Given the description of an element on the screen output the (x, y) to click on. 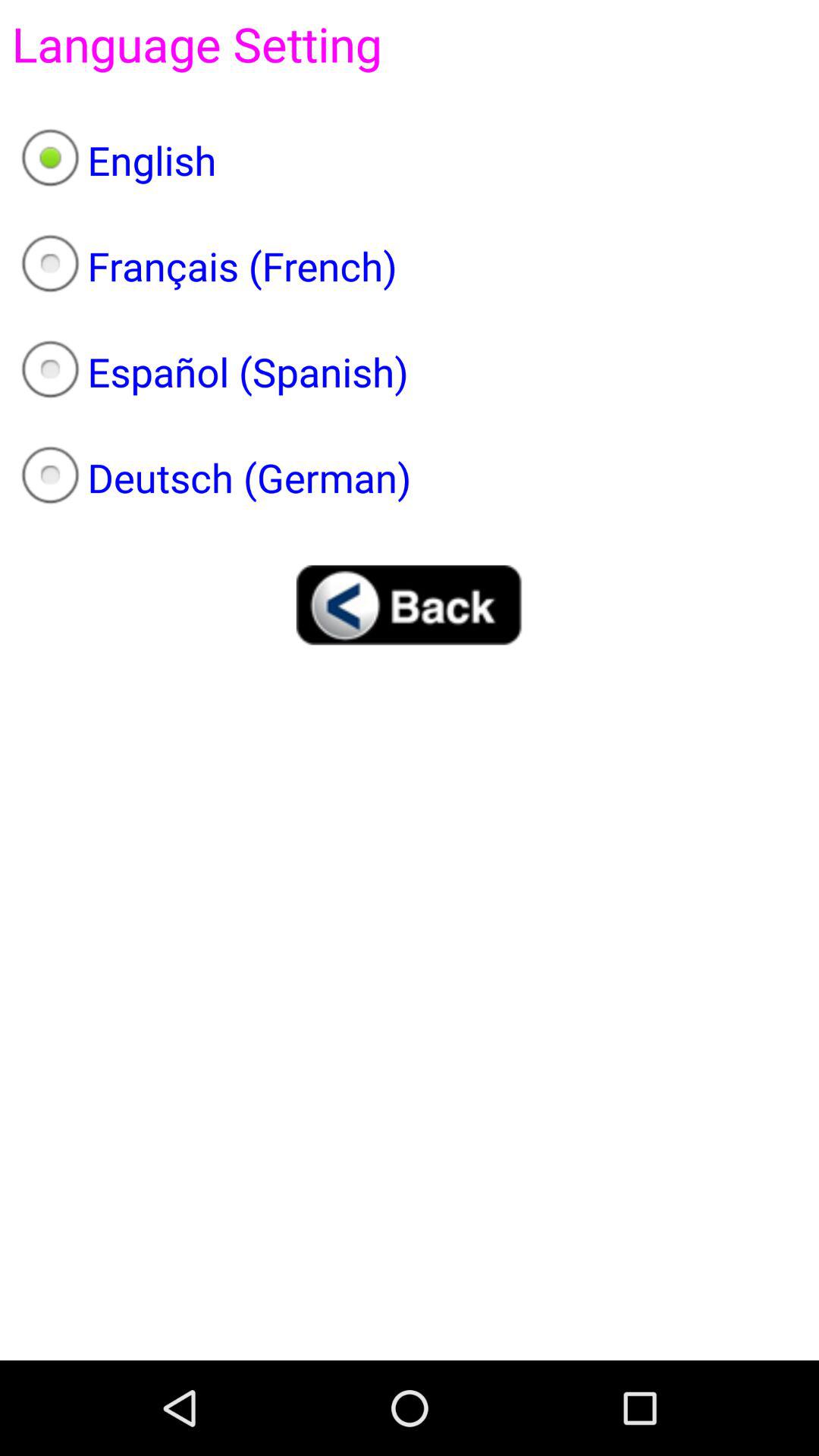
go back (409, 604)
